Given the description of an element on the screen output the (x, y) to click on. 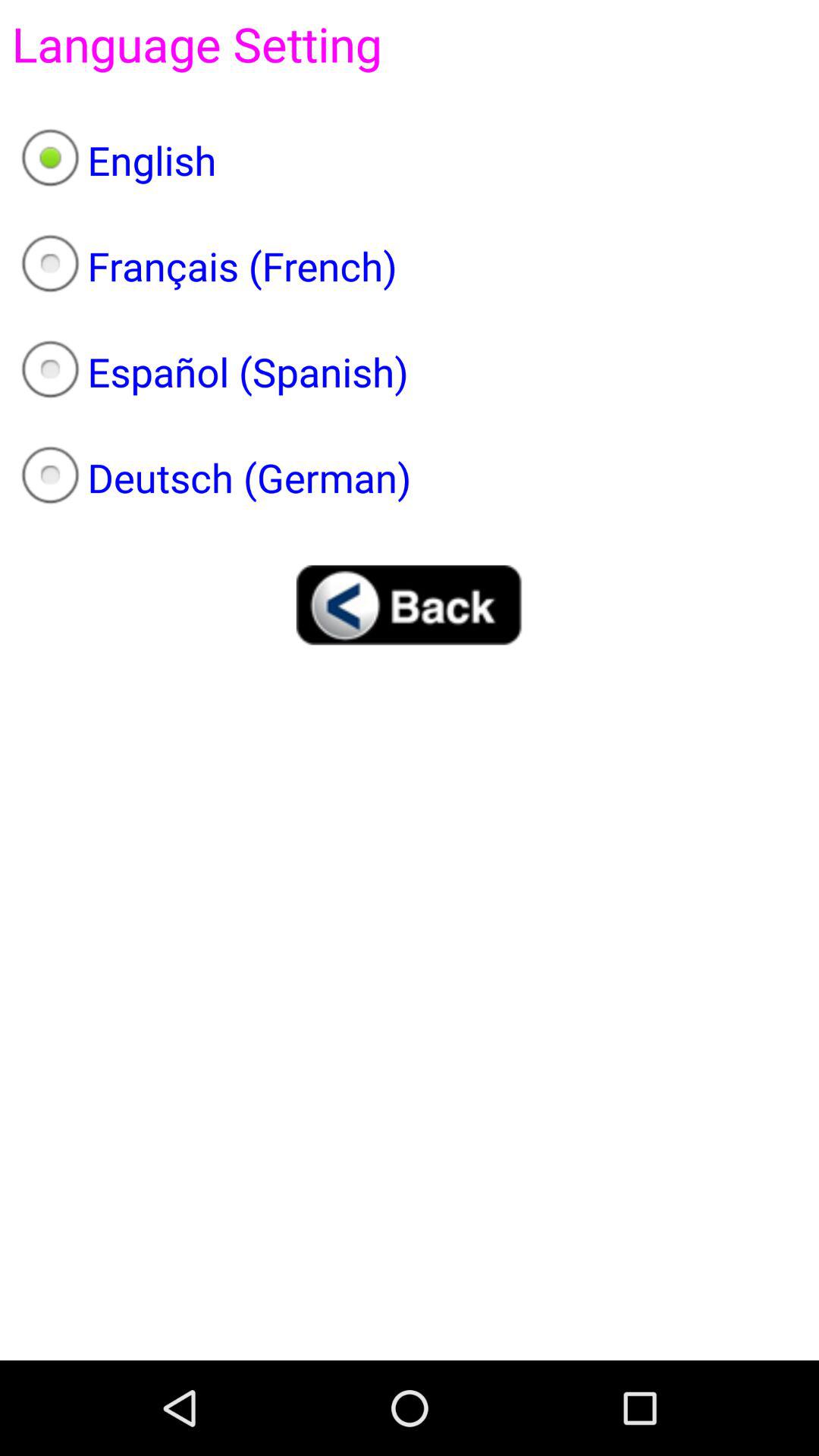
go back (409, 604)
